Given the description of an element on the screen output the (x, y) to click on. 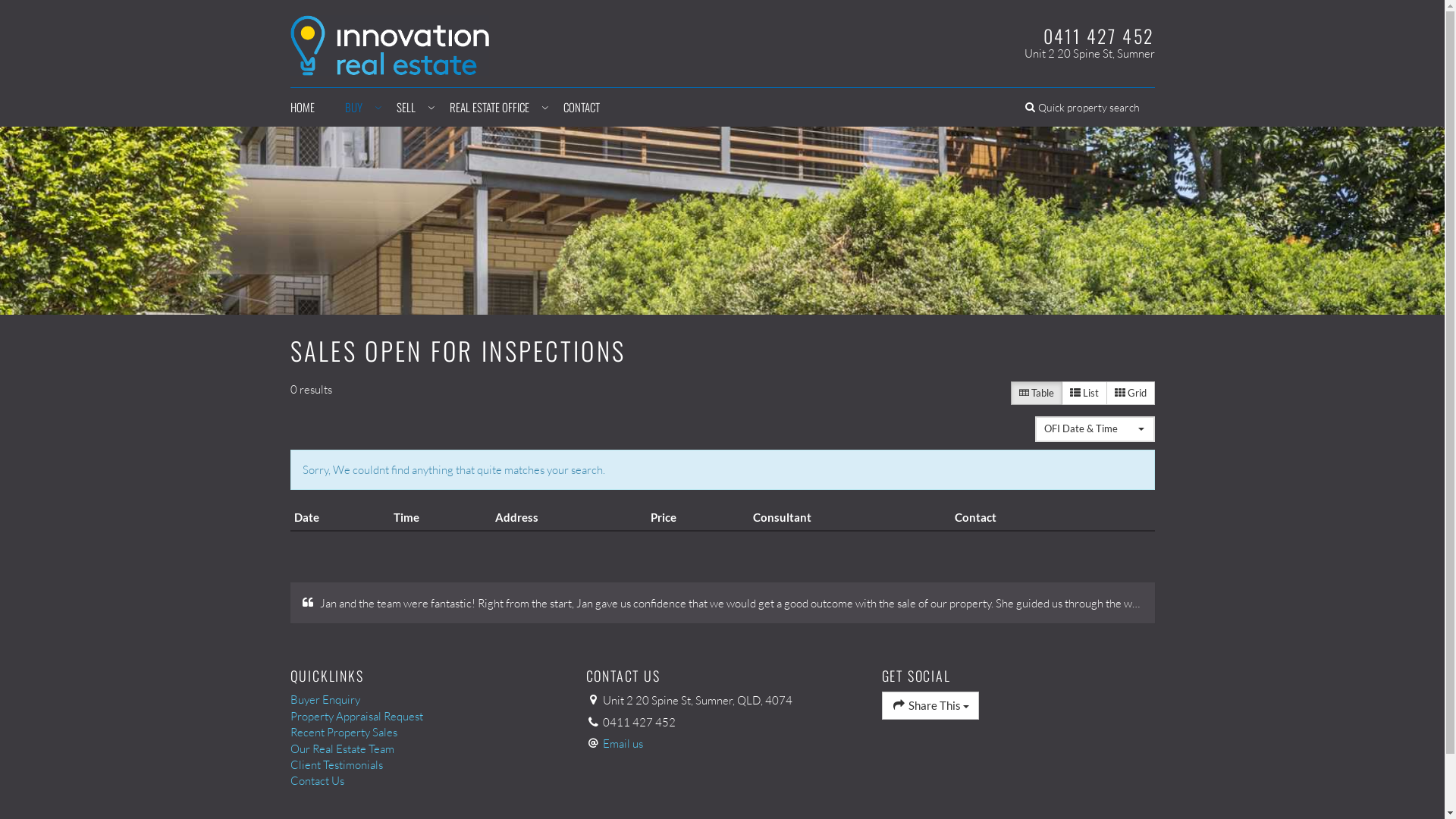
Share This Element type: text (929, 704)
Quick property search Element type: text (1082, 106)
BUY Element type: text (354, 106)
HOME Element type: text (309, 106)
Email us Element type: text (622, 743)
OFI Date & Time
  Element type: text (1094, 429)
Our Real Estate Team Element type: text (425, 748)
Contact Us Element type: text (425, 780)
Buyer Enquiry Element type: text (425, 699)
Client Testimonials Element type: text (425, 764)
Innovation Real Estate Element type: hover (389, 41)
Property Appraisal Request Element type: text (425, 716)
CONTACT Element type: text (580, 106)
REAL ESTATE OFFICE Element type: text (490, 106)
SELL Element type: text (406, 106)
Recent Property Sales Element type: text (425, 732)
